Given the description of an element on the screen output the (x, y) to click on. 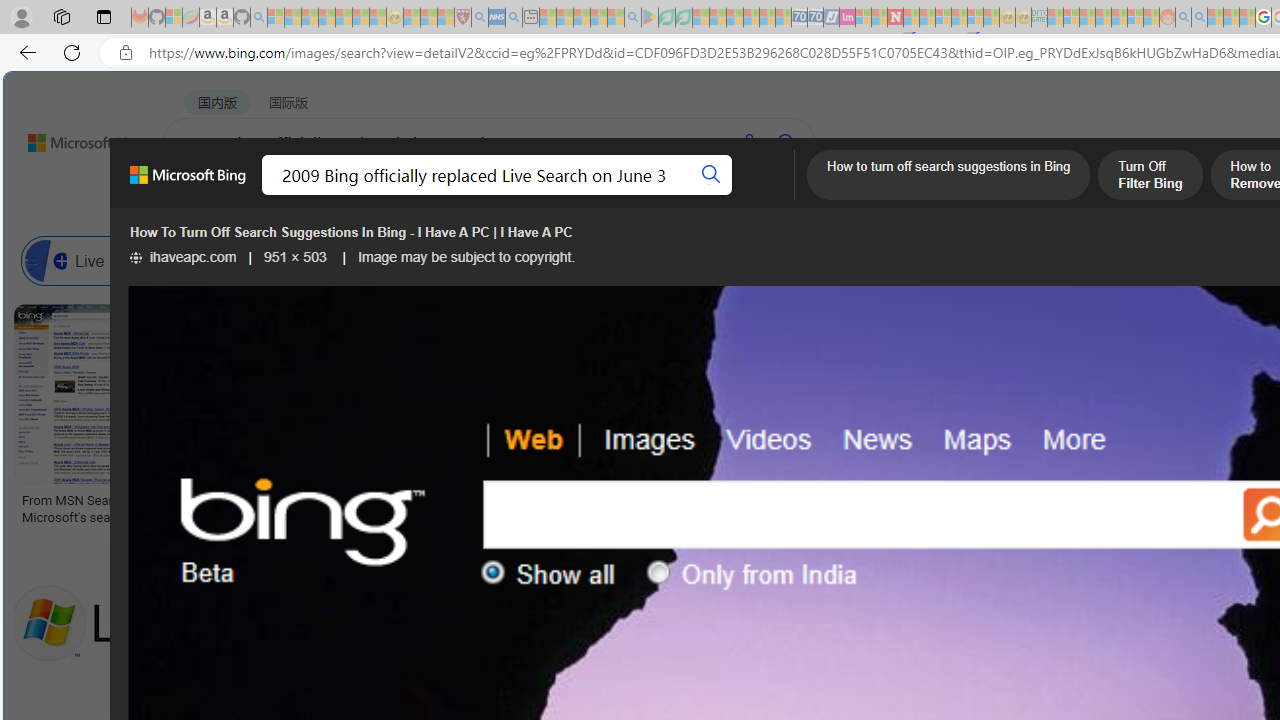
Bing Best Search Engine (1115, 260)
Image may be subject to copyright. (467, 257)
WEB (201, 195)
Microsoft Live LogoSave (740, 417)
Bing Logo and symbol, meaning, history, PNG, brandSave (422, 417)
